Given the description of an element on the screen output the (x, y) to click on. 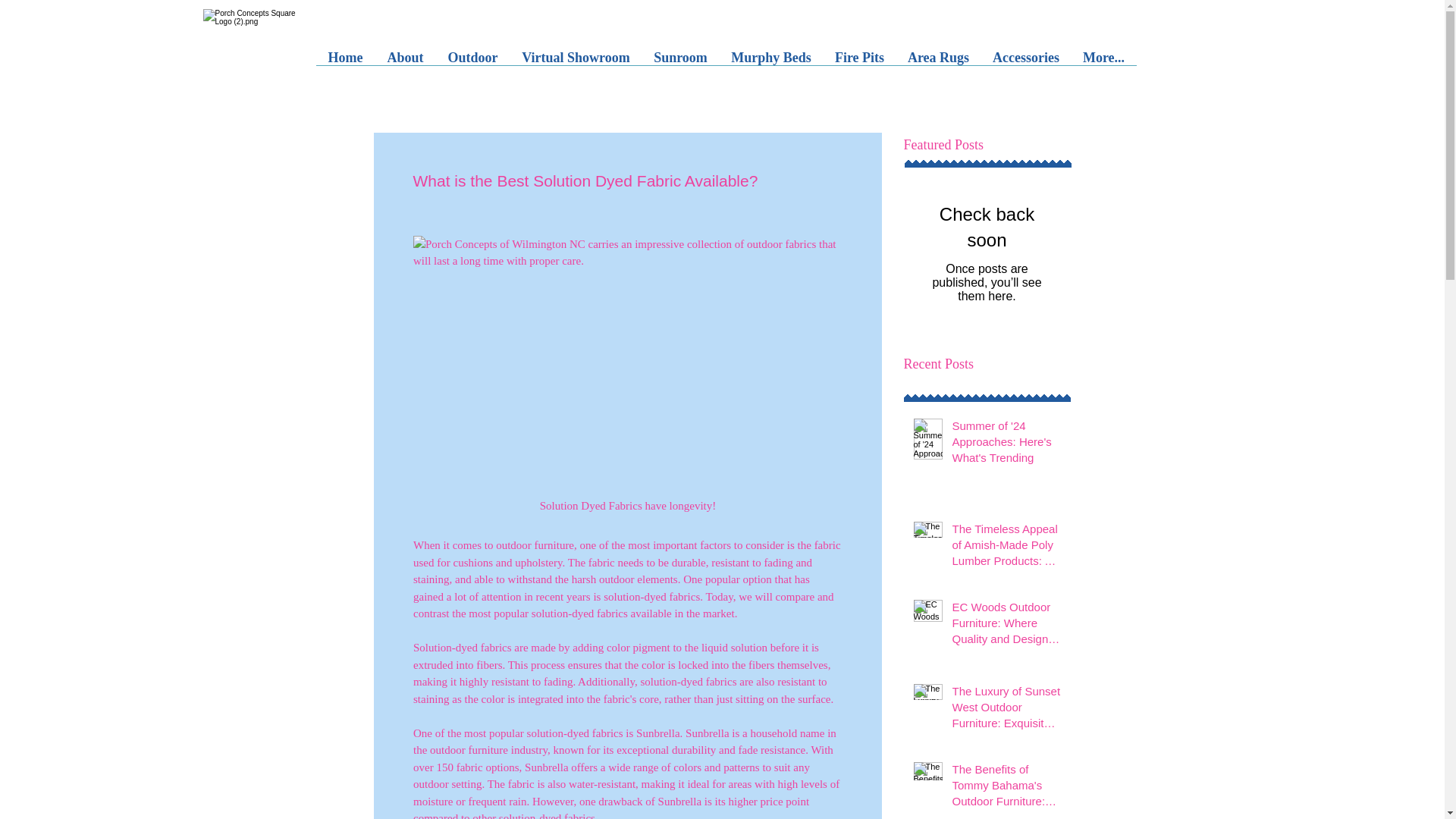
Murphy Beds (826, 62)
About (418, 62)
Fire Pits (925, 62)
Summer of '24 Approaches: Here's What's Trending (1006, 444)
Outdoor (494, 62)
Home (349, 62)
